Given the description of an element on the screen output the (x, y) to click on. 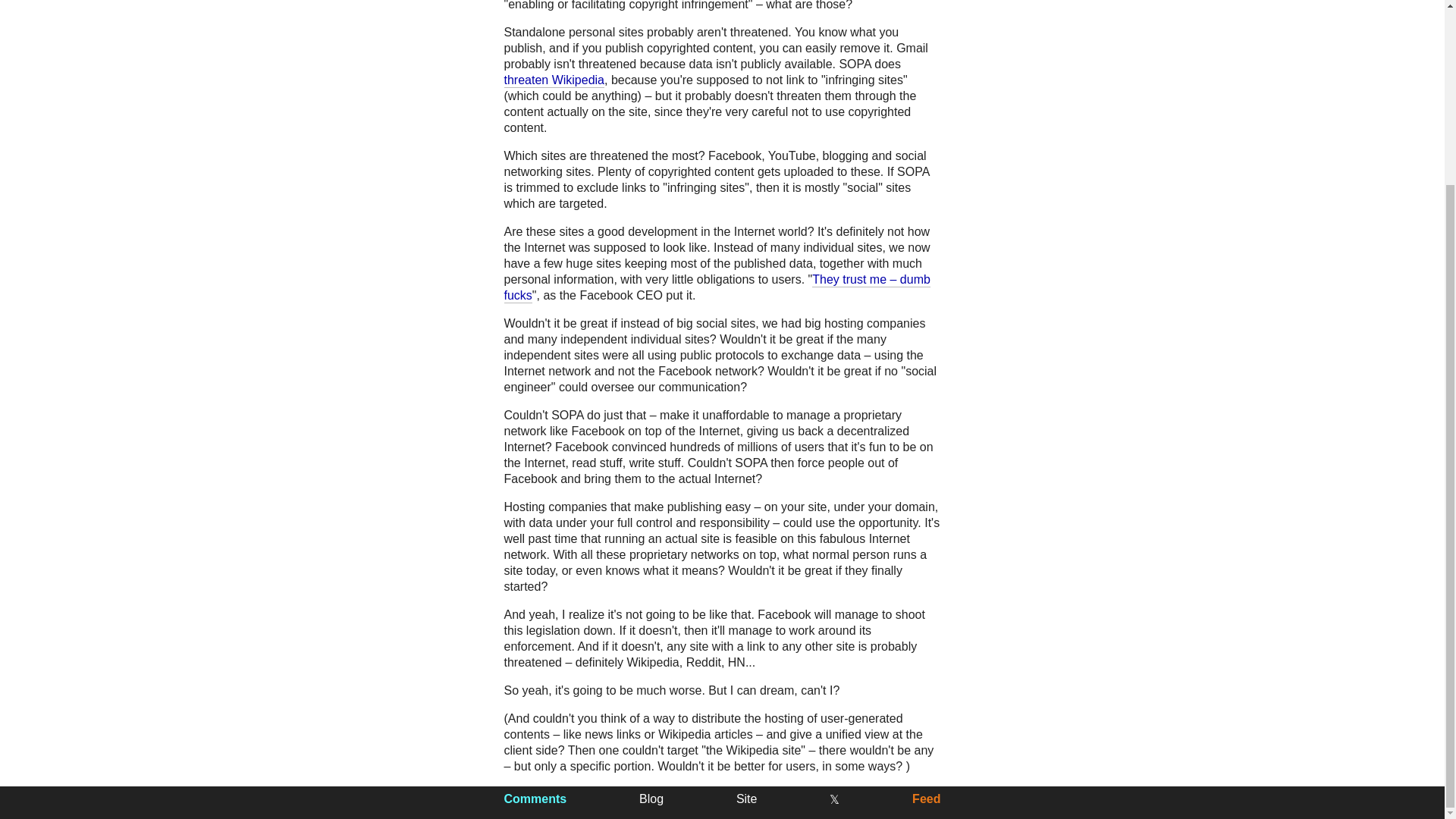
threaten Wikipedia (553, 79)
Blog (651, 799)
Comments (534, 799)
Feed (926, 799)
Site (746, 799)
